Given the description of an element on the screen output the (x, y) to click on. 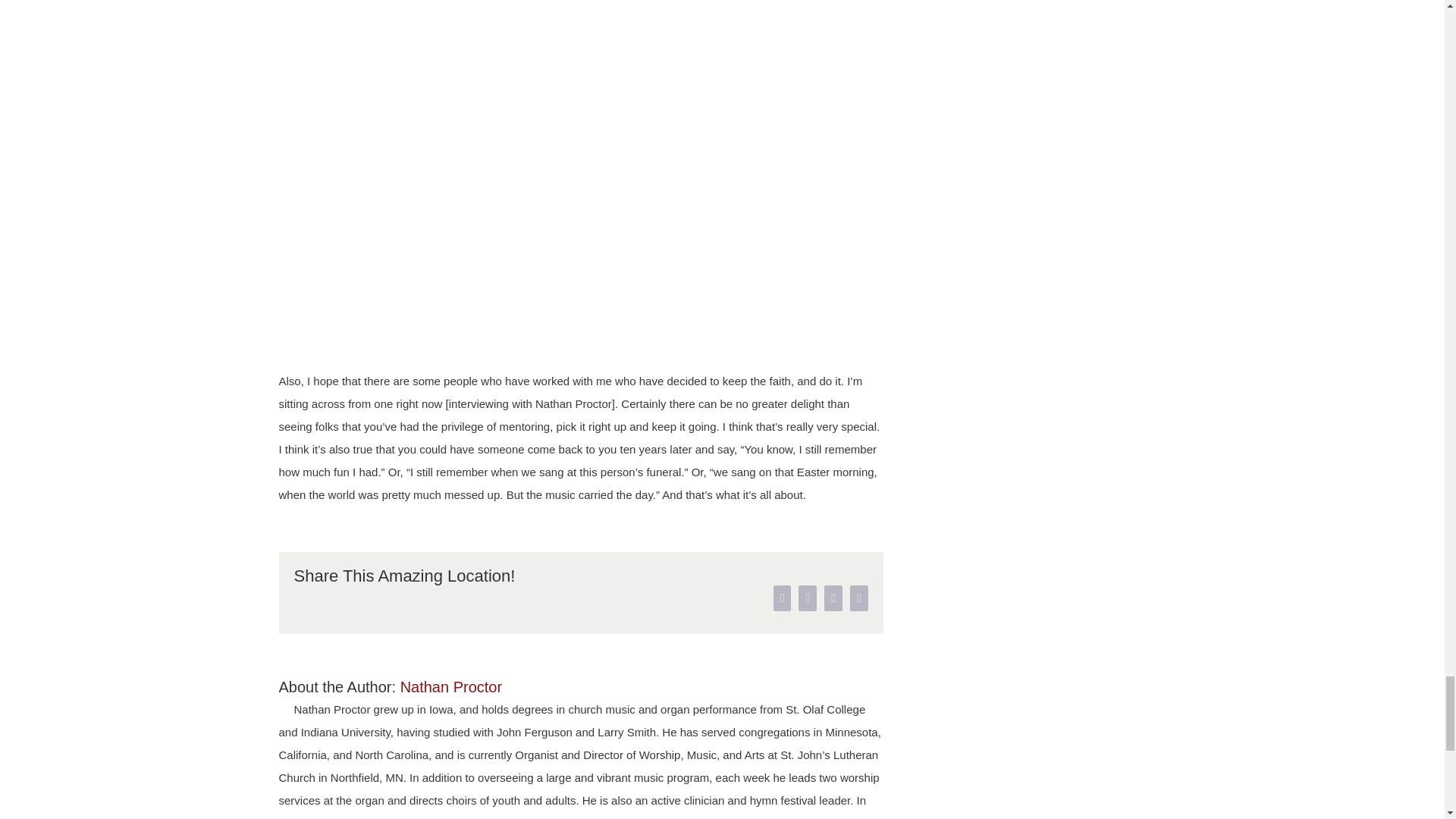
Posts by Nathan Proctor (451, 686)
